Given the description of an element on the screen output the (x, y) to click on. 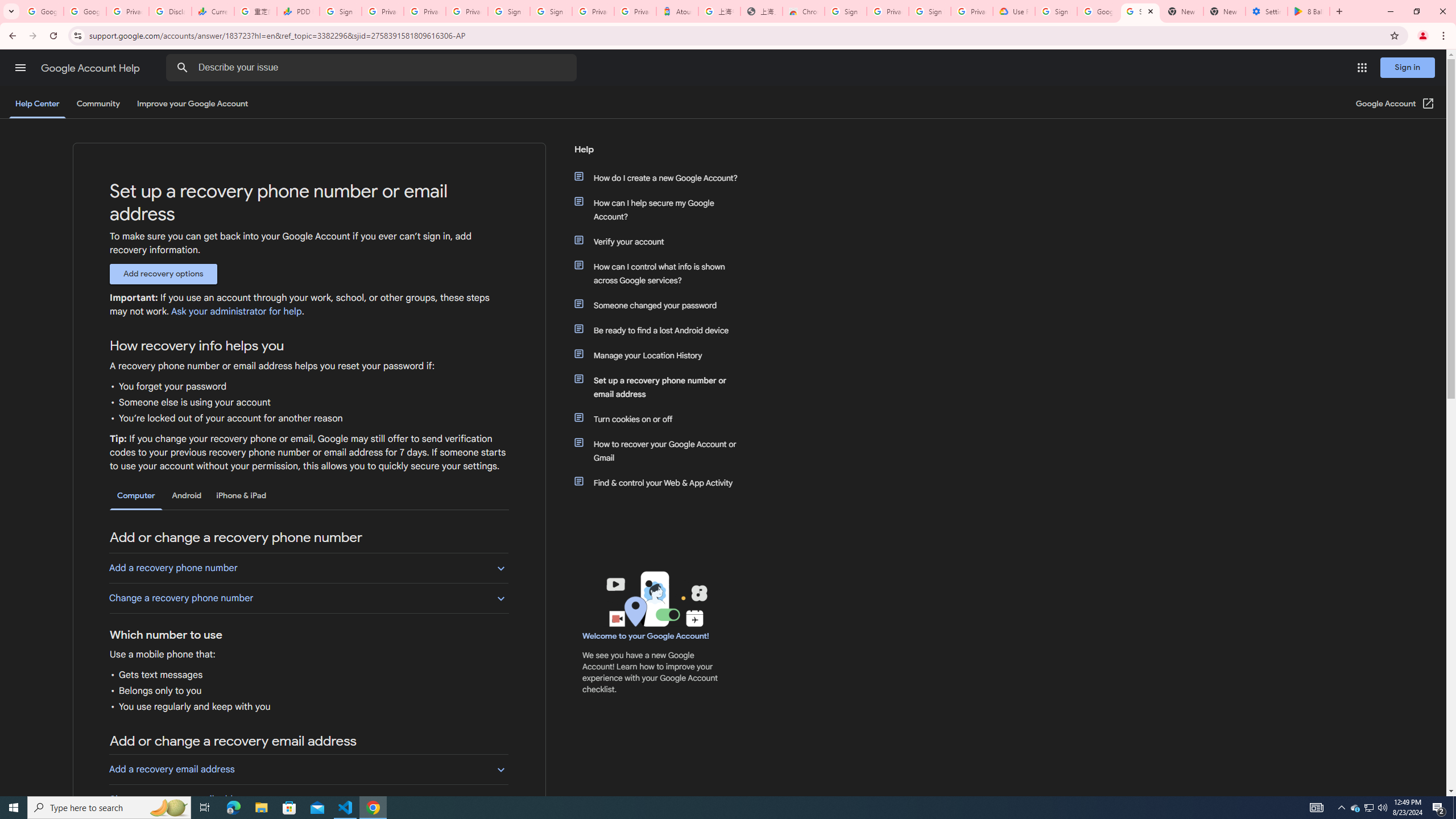
Add a recovery email address (308, 769)
Google Account (Open in a new window) (1395, 103)
Someone changed your password (661, 305)
Sign in - Google Accounts (1055, 11)
Privacy Checkup (424, 11)
Help Center (36, 103)
How can I help secure my Google Account? (661, 209)
Improve your Google Account (192, 103)
Computer (136, 496)
Describe your issue (373, 67)
